Given the description of an element on the screen output the (x, y) to click on. 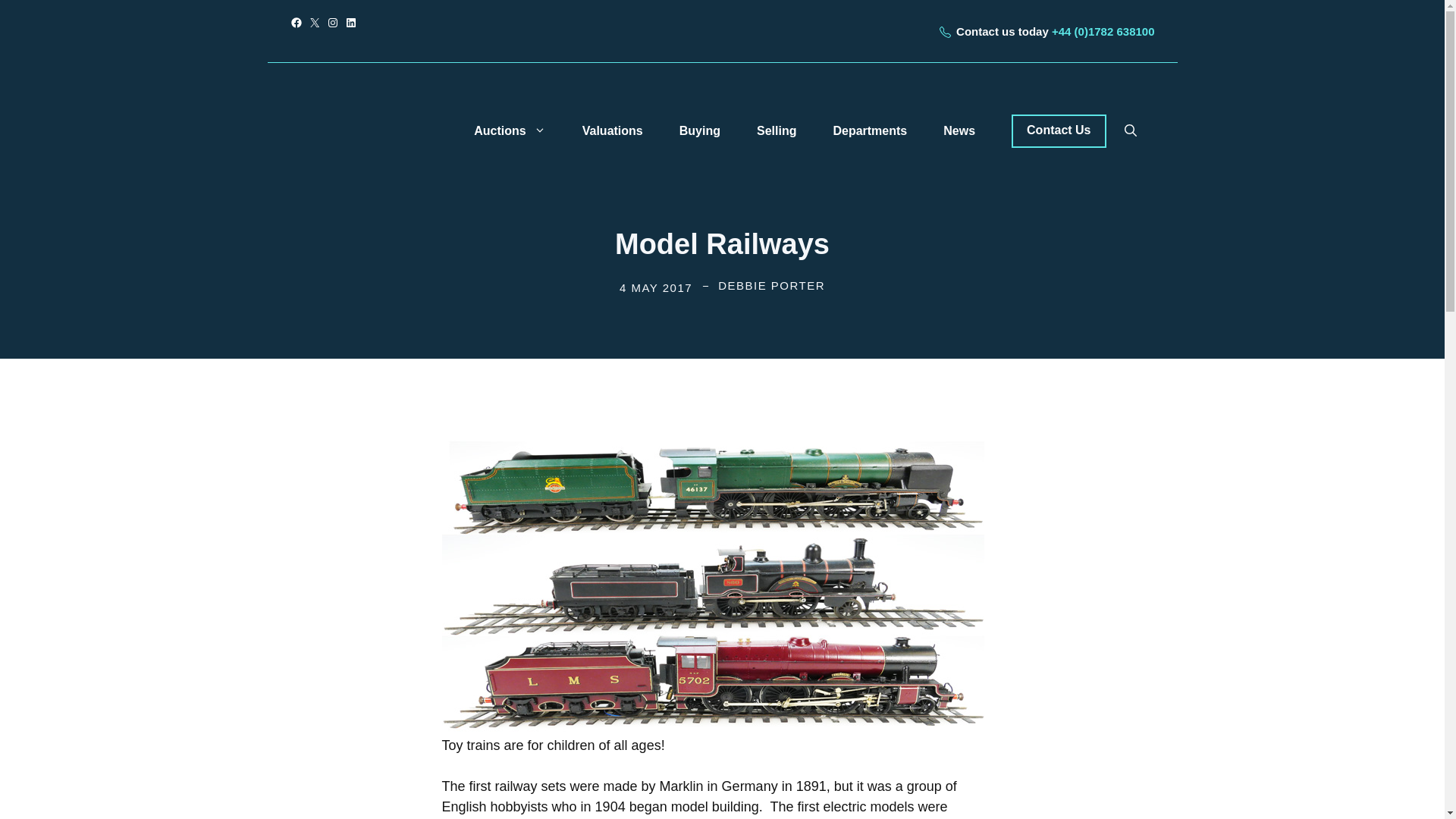
Facebook (295, 22)
Instagram (331, 22)
X (313, 22)
Contact Us (1058, 131)
News (958, 130)
LinkedIn (349, 22)
Auctions (509, 130)
Valuations (612, 130)
Buying (699, 130)
Selling (775, 130)
Departments (868, 130)
